Given the description of an element on the screen output the (x, y) to click on. 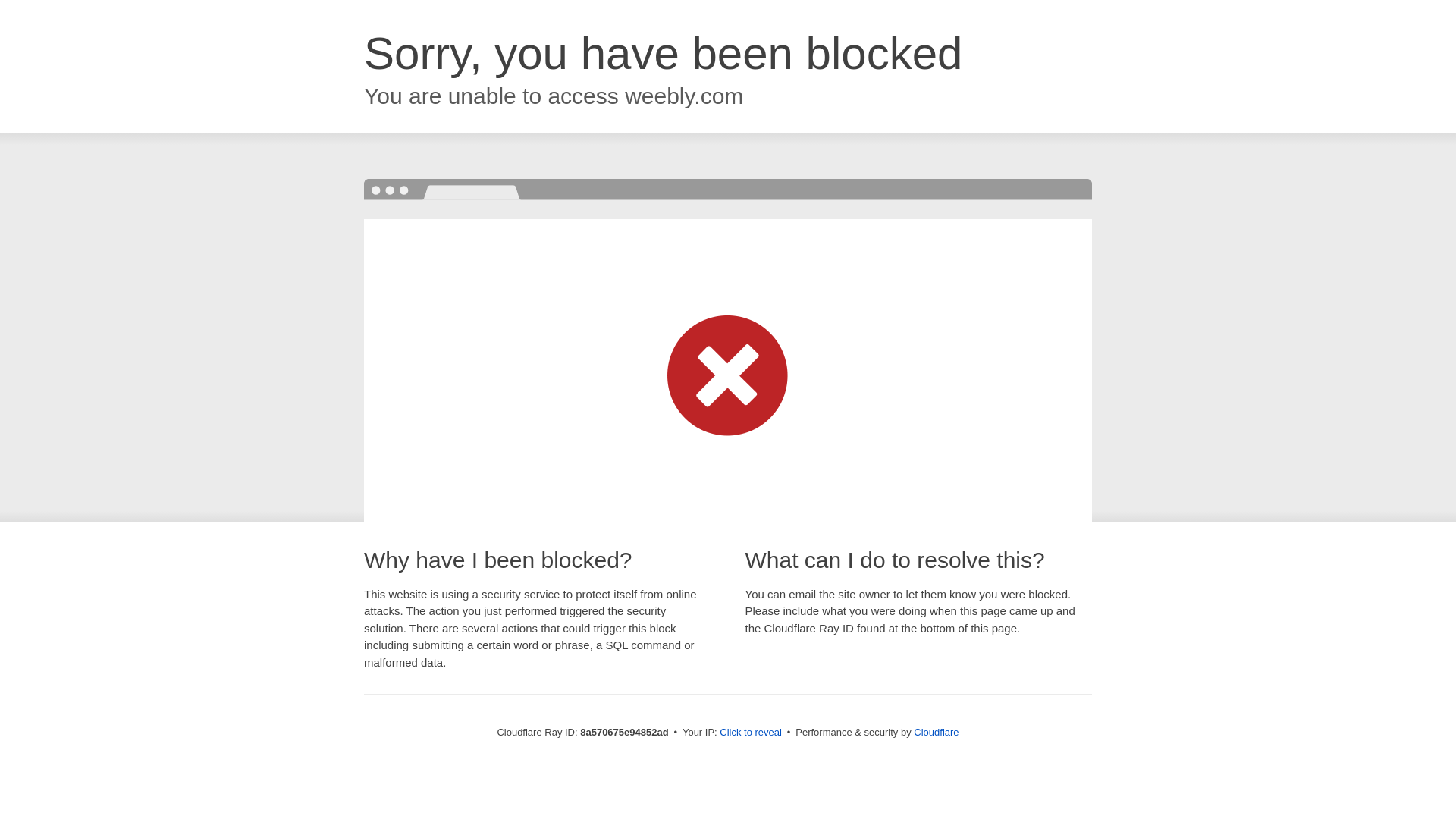
Click to reveal (750, 732)
Cloudflare (936, 731)
